Given the description of an element on the screen output the (x, y) to click on. 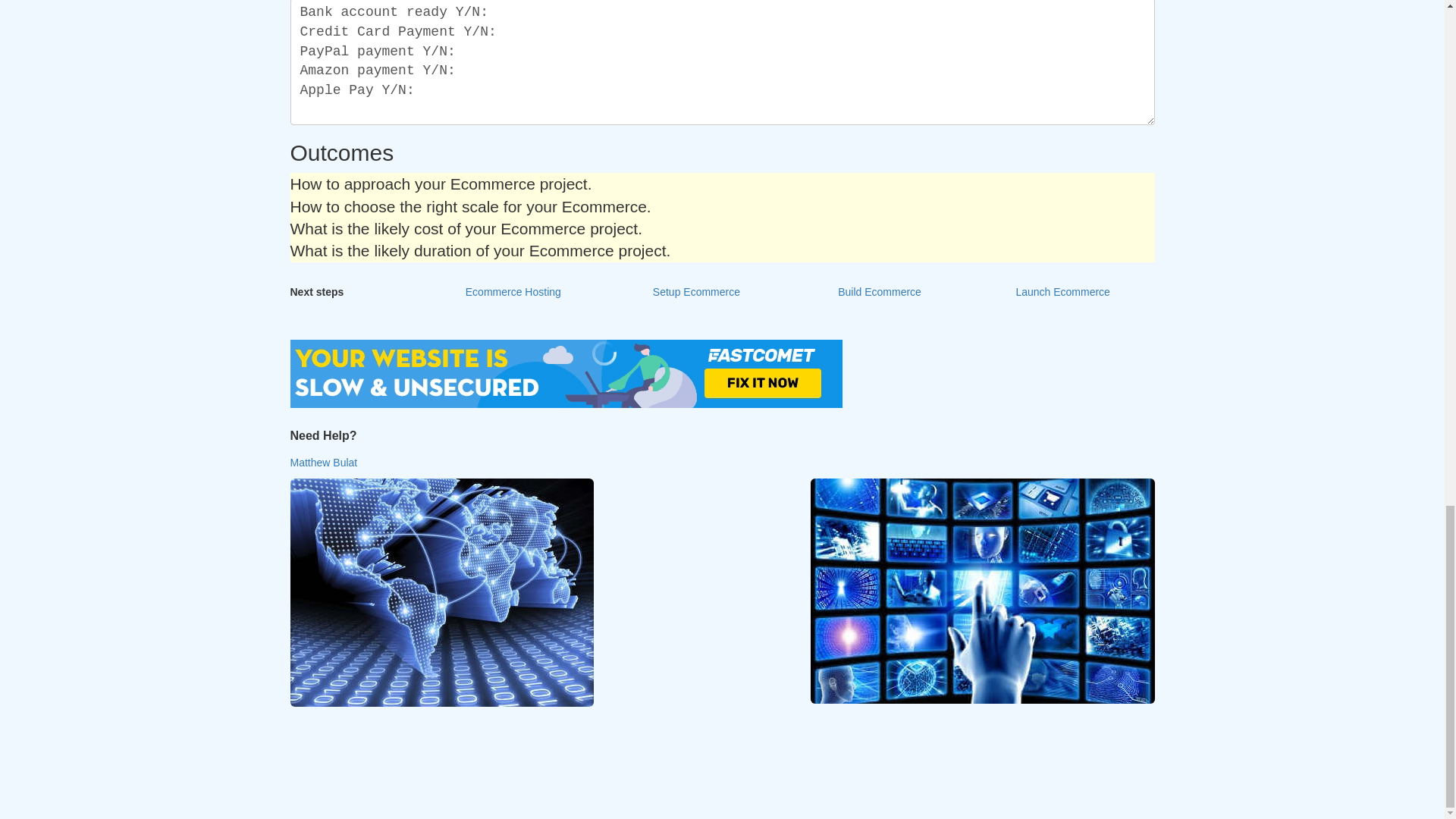
Ecommerce Hosting (513, 292)
Build Ecommerce (879, 292)
Matthew Bulat (322, 462)
Launch Ecommerce (1062, 292)
Setup Ecommerce (697, 292)
